Given the description of an element on the screen output the (x, y) to click on. 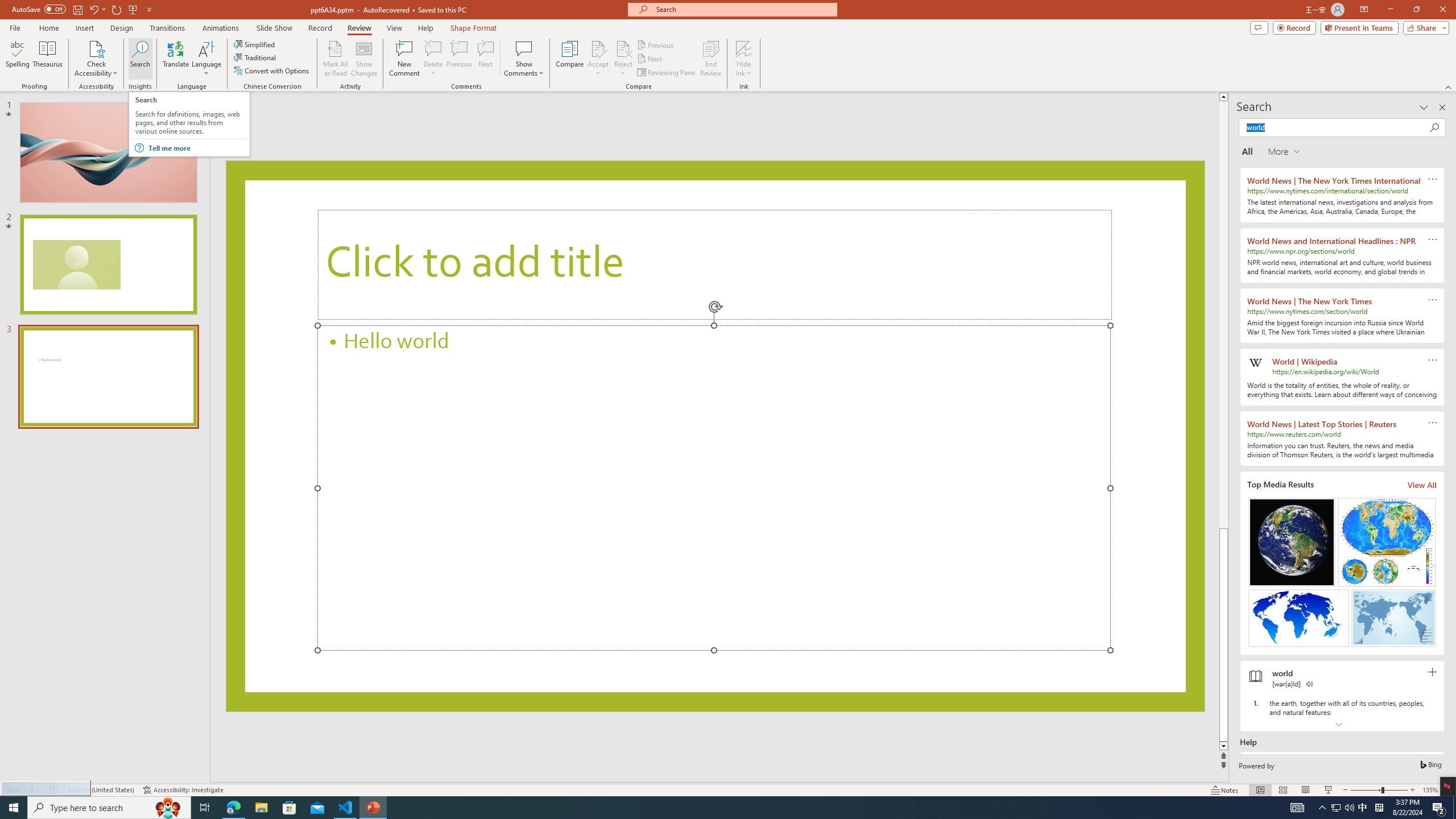
Hide Ink (743, 48)
Convert with Options... (272, 69)
Check Accessibility (95, 48)
Accept Change (598, 48)
